Given the description of an element on the screen output the (x, y) to click on. 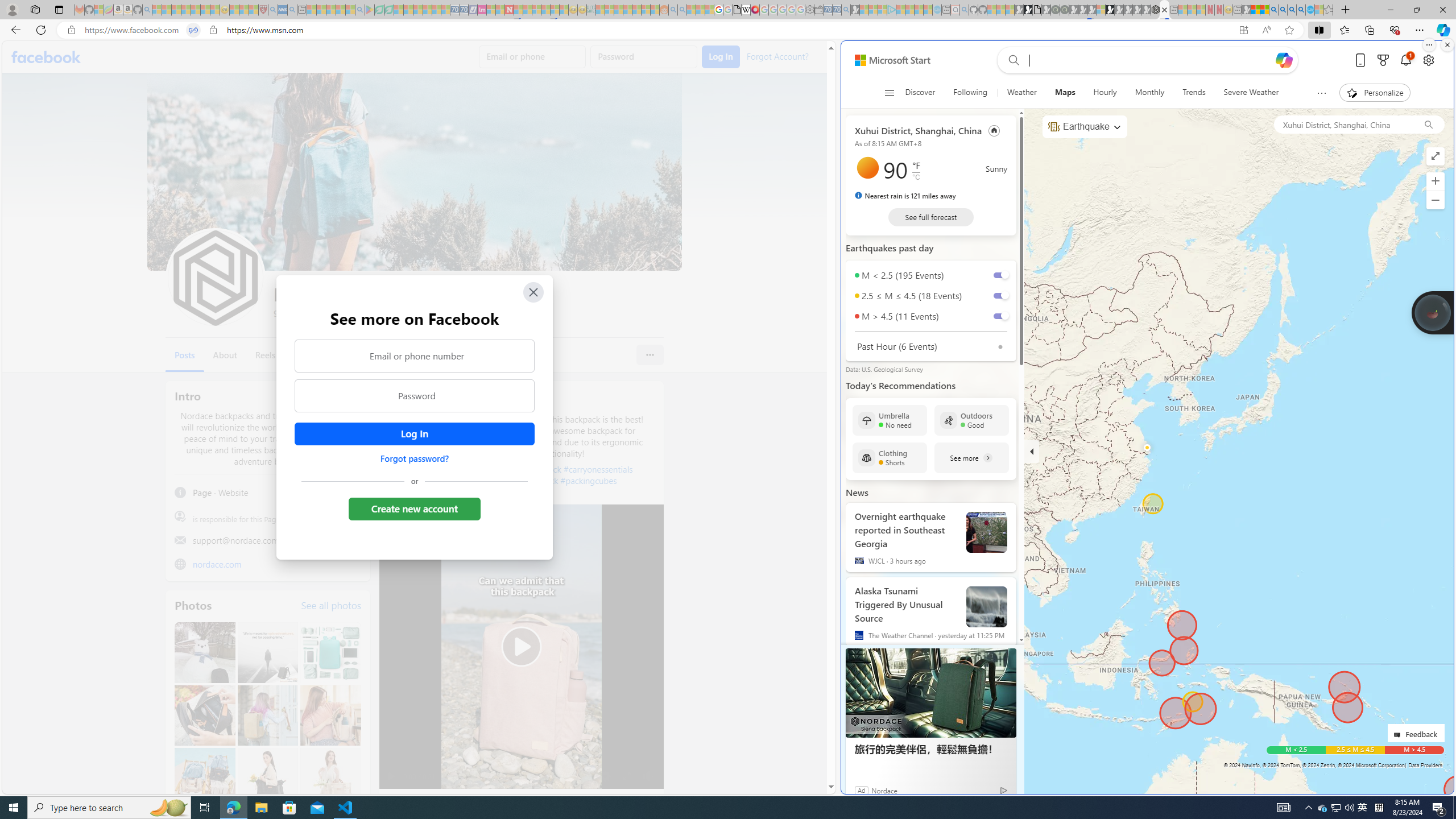
Cheap Hotels - Save70.com - Sleeping (463, 9)
Favorites (1344, 29)
Class: feedback_link_icon-DS-EntryPoint1-1 (1399, 734)
Microsoft rewards (1382, 60)
Forgot password? (414, 458)
Microsoft Start (892, 60)
Skip to content (888, 59)
New Tab (1346, 9)
Monthly (1149, 92)
Email or phone number (414, 355)
MSNBC - MSN - Sleeping (600, 9)
Facebook (46, 56)
